Given the description of an element on the screen output the (x, y) to click on. 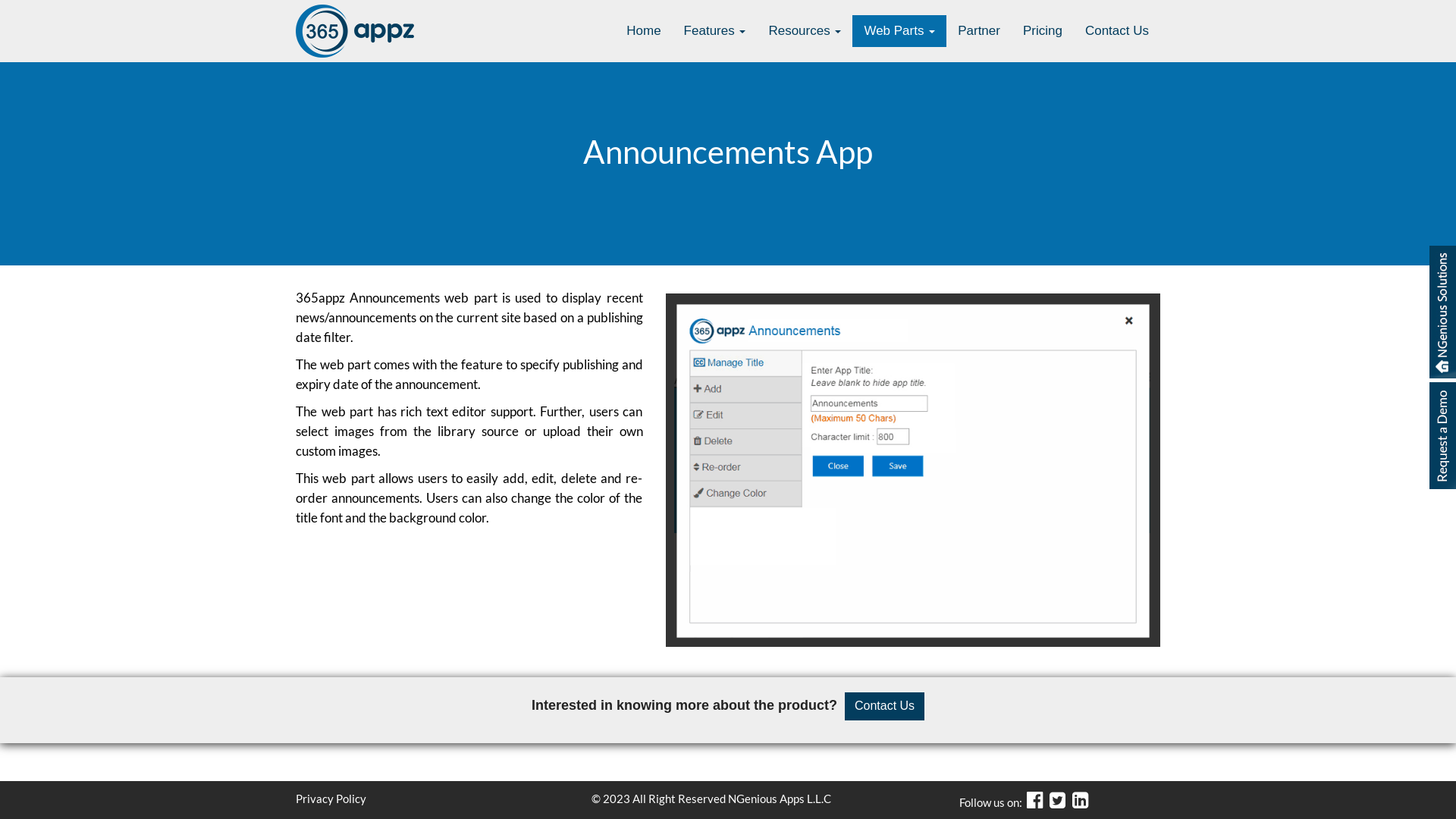
Home Element type: text (643, 31)
Partner Element type: text (978, 31)
Web Parts Element type: text (899, 31)
Contact Us Element type: text (1116, 31)
Features Element type: text (714, 31)
Pricing Element type: text (1042, 31)
Privacy Policy Element type: text (330, 799)
Resources Element type: text (804, 31)
365Appz logo Element type: hover (354, 30)
Contact Us Element type: text (884, 706)
